Given the description of an element on the screen output the (x, y) to click on. 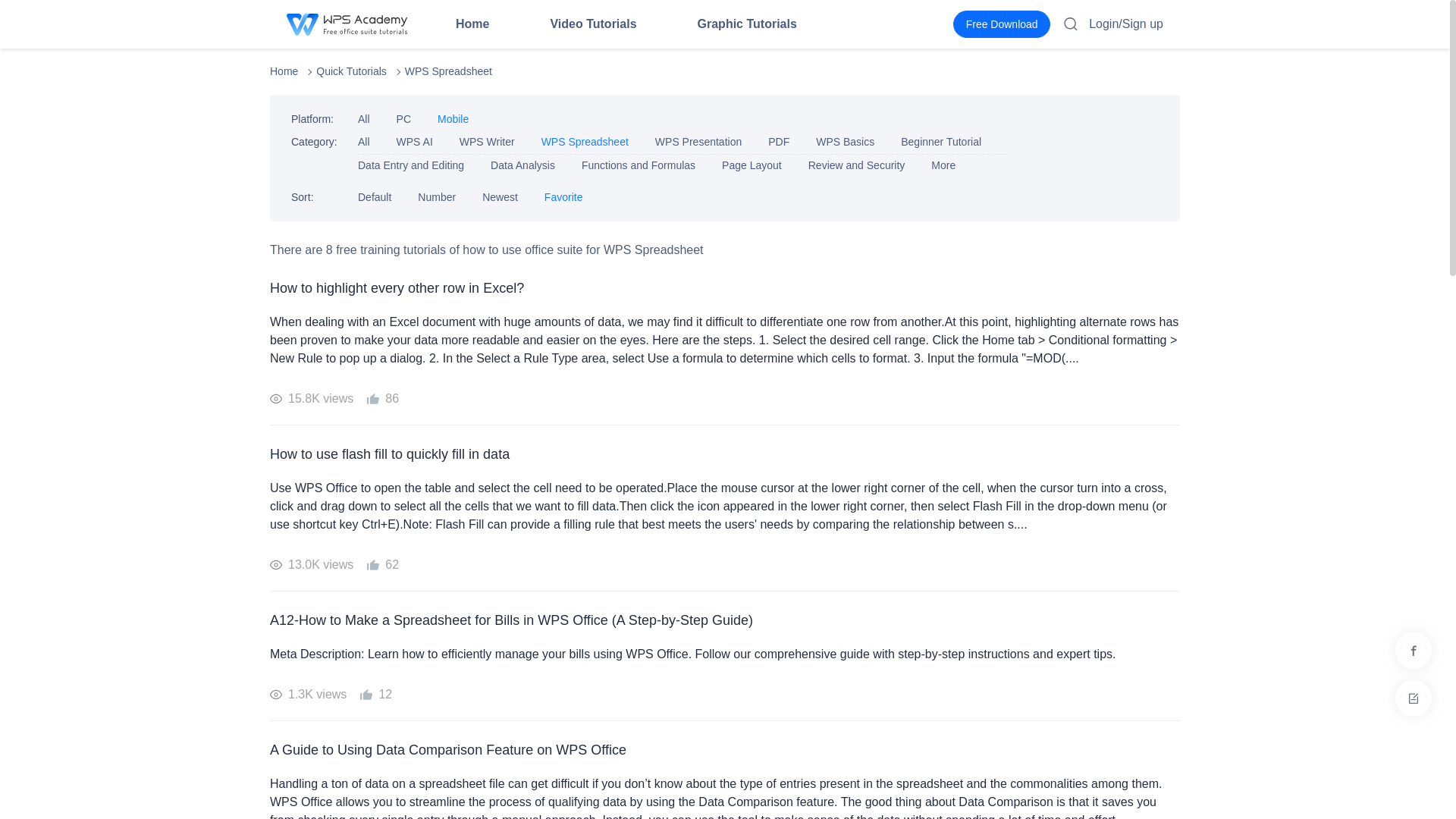
Home (472, 24)
Graphic Tutorials (746, 24)
Video Tutorials (592, 24)
Video Tutorials (592, 24)
Home (472, 24)
